Given the description of an element on the screen output the (x, y) to click on. 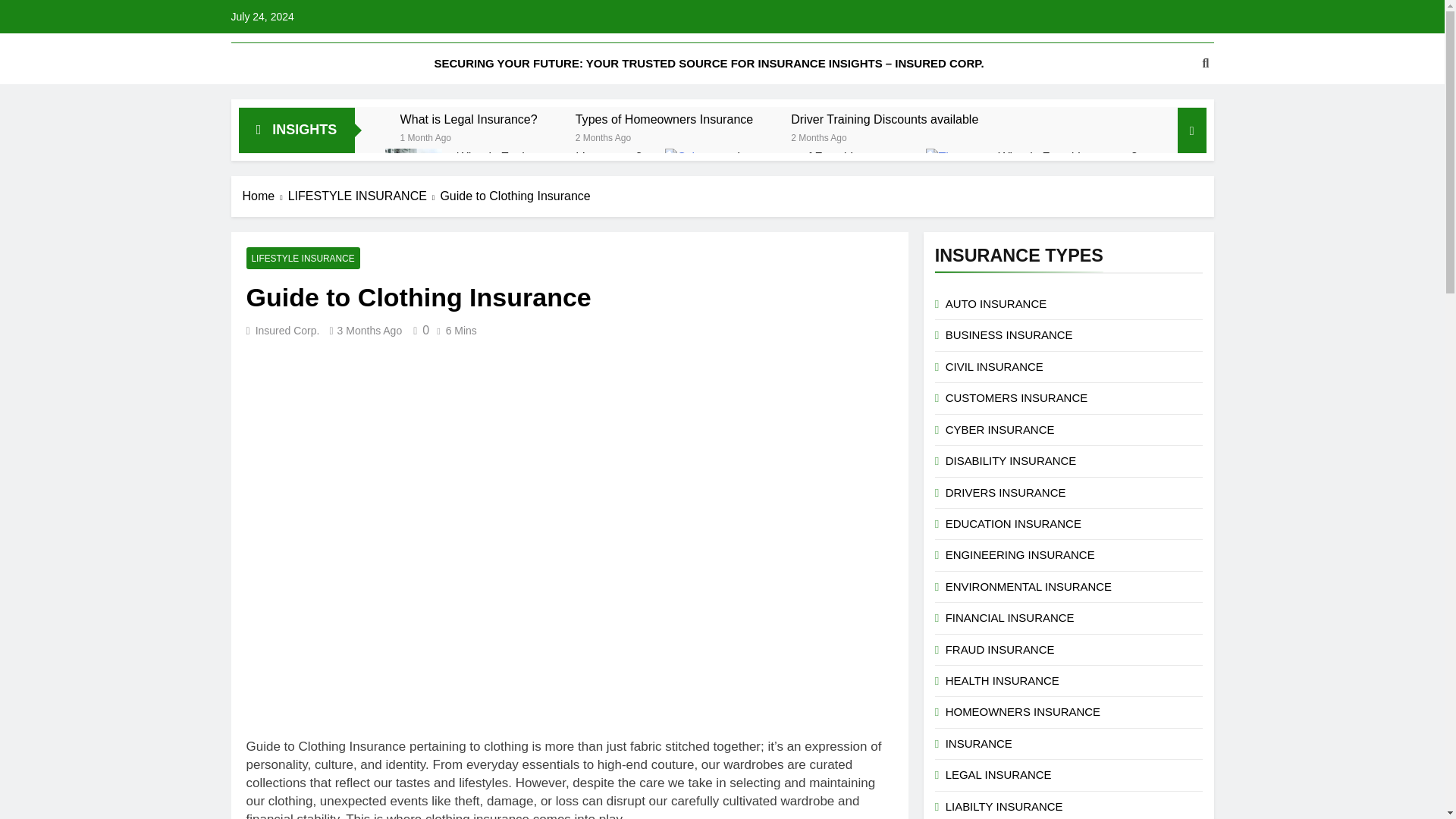
2 Months Ago (602, 136)
2 Months Ago (817, 136)
Types of Homeowners Insurance (664, 119)
What is Legal Insurance? (468, 119)
What is Environmental Insurance? (549, 156)
Importance of Fraud Insurance (819, 156)
Importance of Fraud Insurance (819, 156)
What is Environmental Insurance? (549, 156)
What is Fraud Insurance? (1067, 156)
Importance of Fraud Insurance (693, 176)
INSURANCE WEBSITE (664, 54)
Driver Training Discounts available (884, 119)
What is Fraud Insurance? (954, 176)
Home (265, 196)
Types of Homeowners Insurance (664, 119)
